Given the description of an element on the screen output the (x, y) to click on. 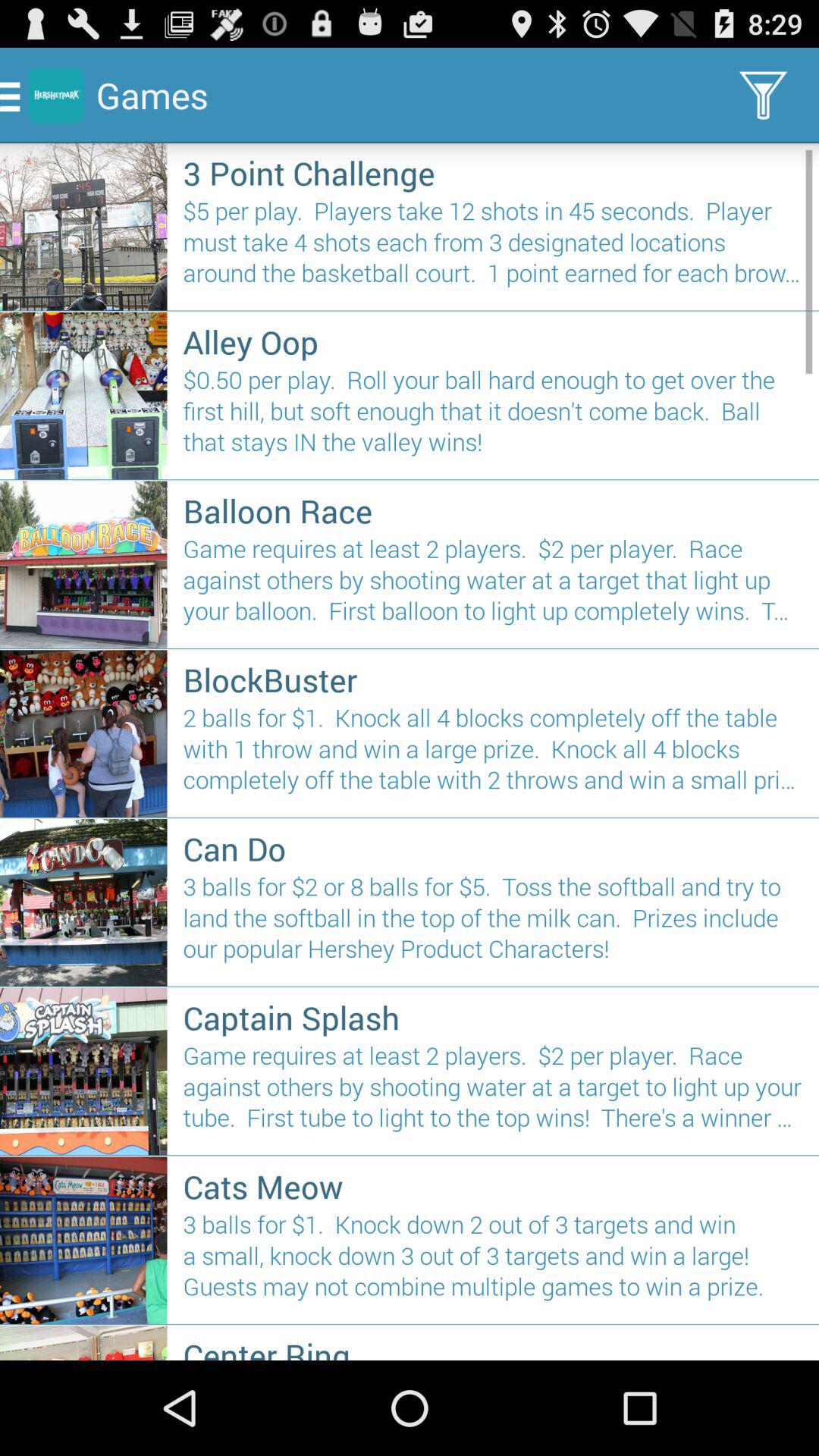
tap the icon below game requires at (493, 679)
